Given the description of an element on the screen output the (x, y) to click on. 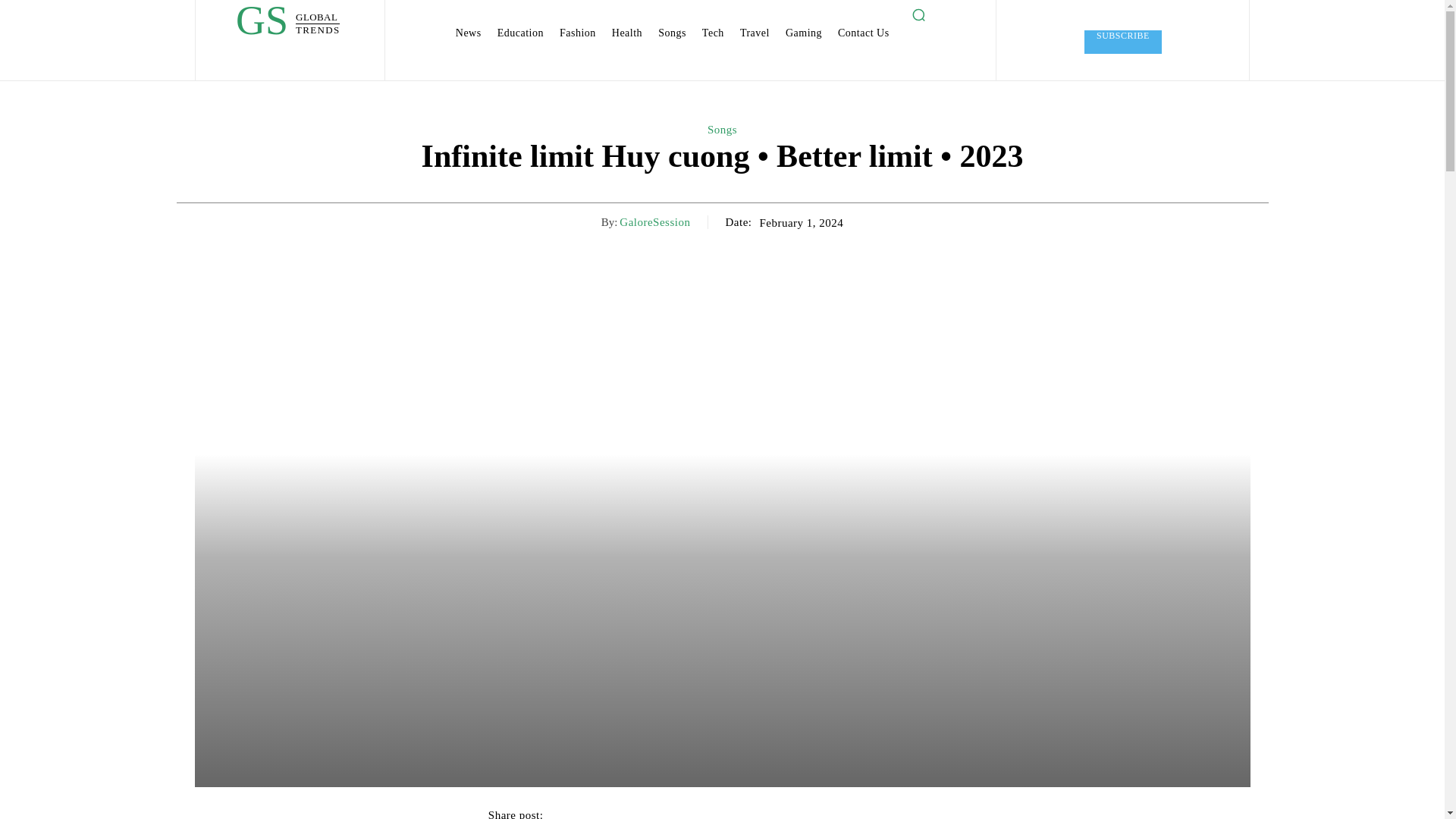
Songs (721, 129)
Subscribe (1122, 42)
Education (520, 33)
SUBSCRIBE (1122, 42)
Contact Us (862, 33)
GaloreSession (287, 23)
